Given the description of an element on the screen output the (x, y) to click on. 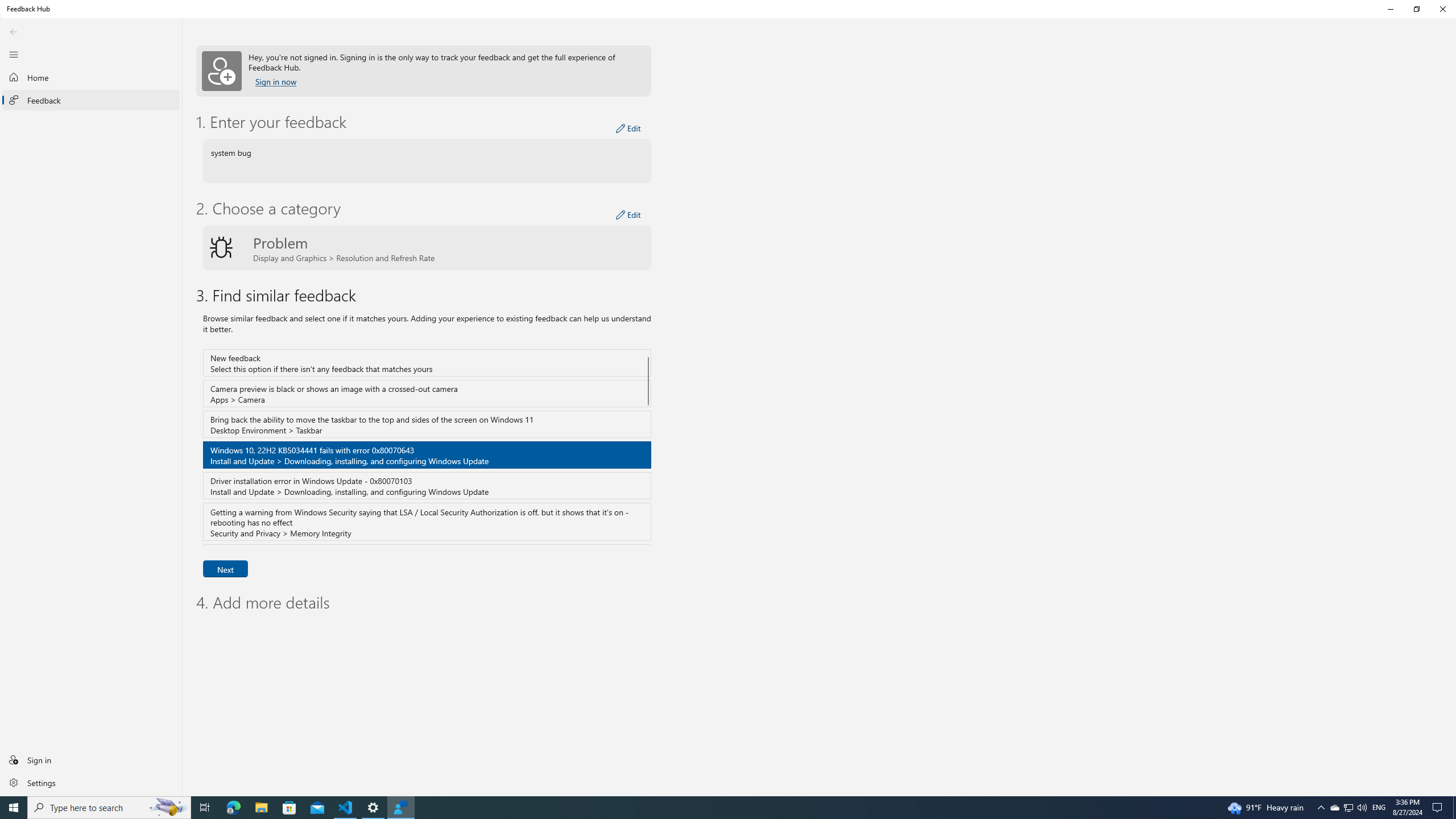
Vertical Small Increase (1452, 792)
Vertical Large Increase (1452, 420)
Settings (90, 782)
